Given the description of an element on the screen output the (x, y) to click on. 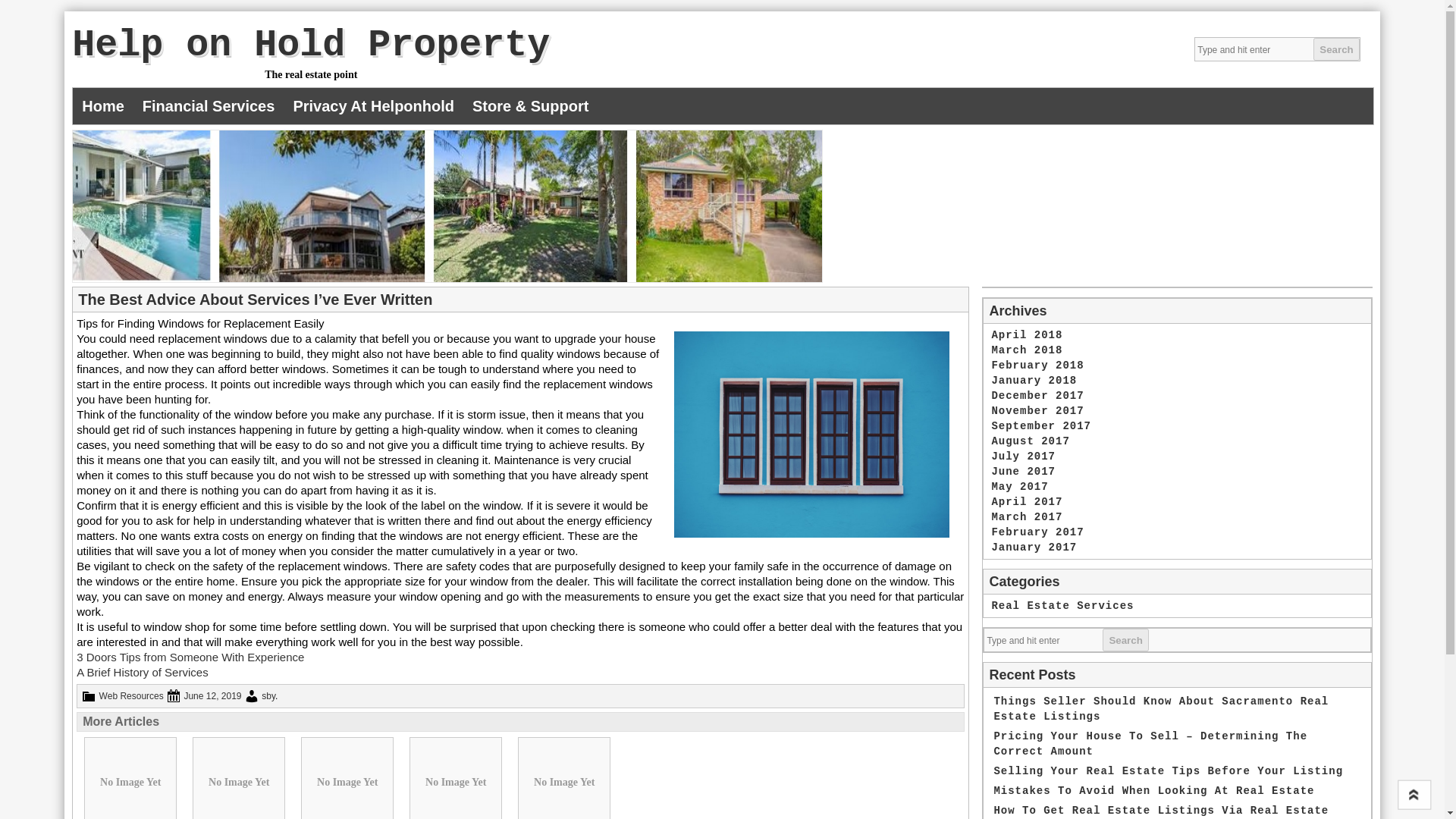
sby (268, 696)
September 2017 (1040, 426)
May 2017 (1019, 486)
Where To Start with  and More (564, 778)
December 2017 (455, 778)
Search (1037, 395)
Search (1335, 48)
